Given the description of an element on the screen output the (x, y) to click on. 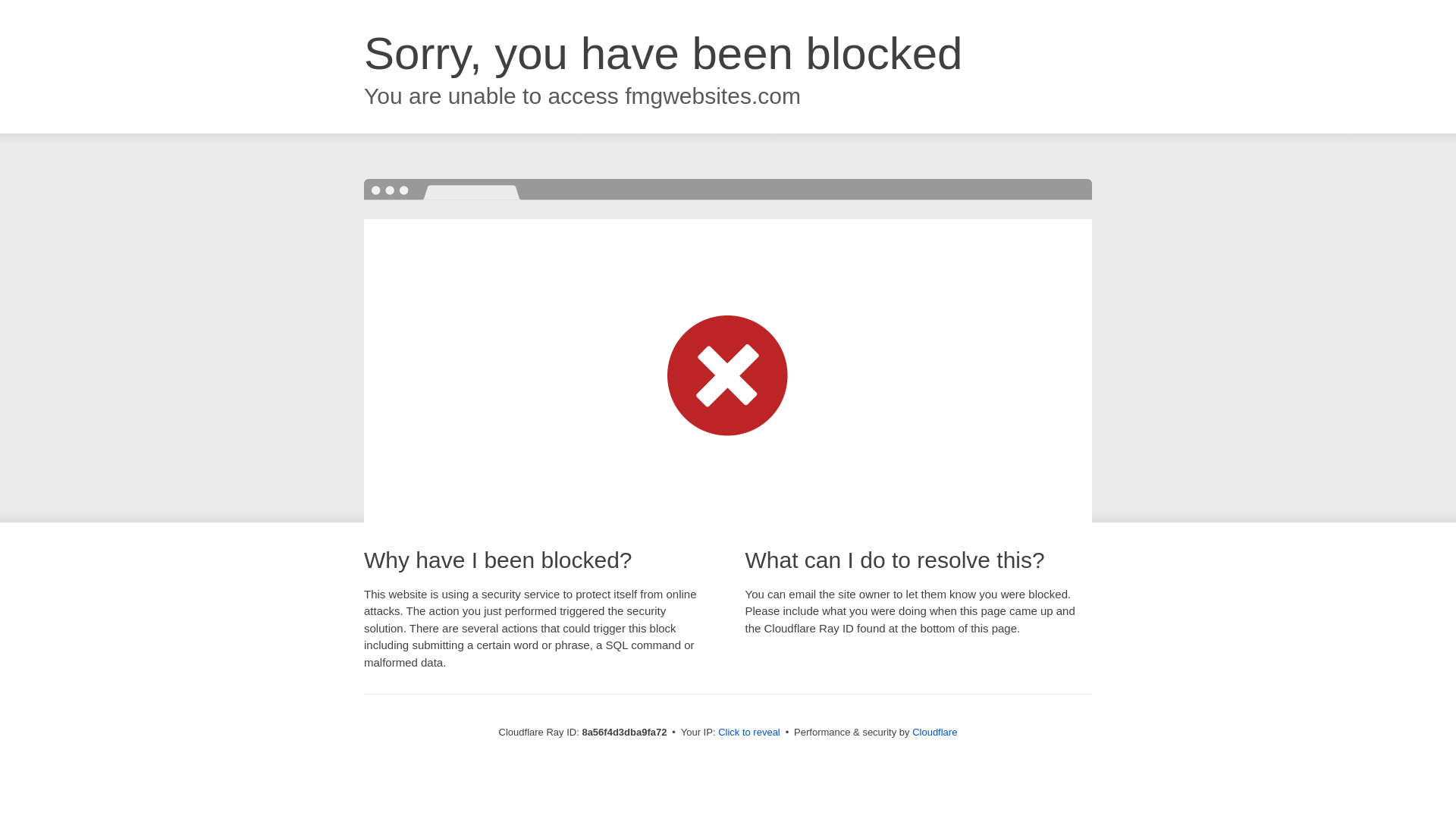
Cloudflare (934, 731)
Click to reveal (748, 732)
